Given the description of an element on the screen output the (x, y) to click on. 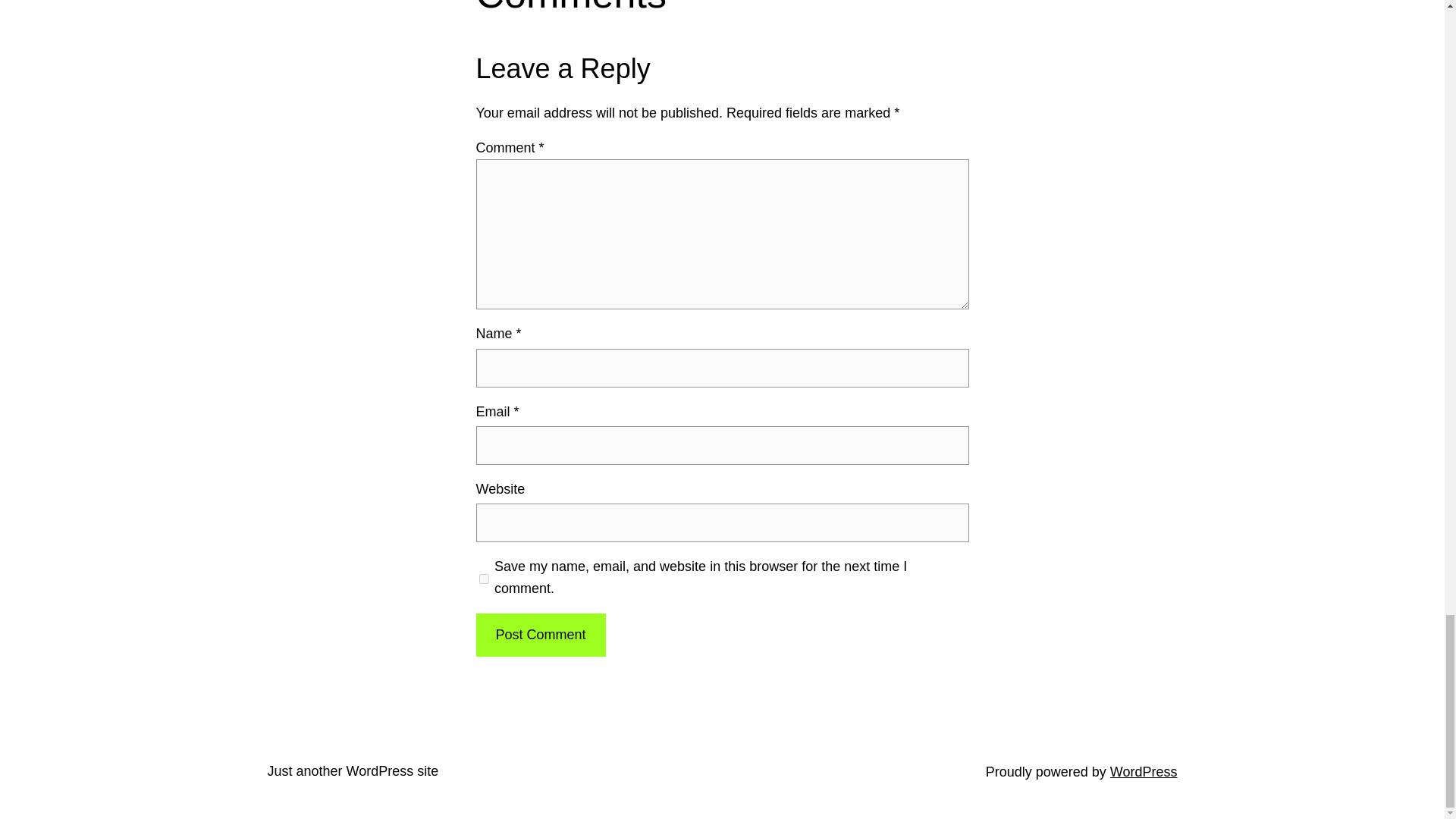
Post Comment (540, 634)
Post Comment (540, 634)
Just another WordPress site (352, 770)
WordPress (1143, 771)
